Given the description of an element on the screen output the (x, y) to click on. 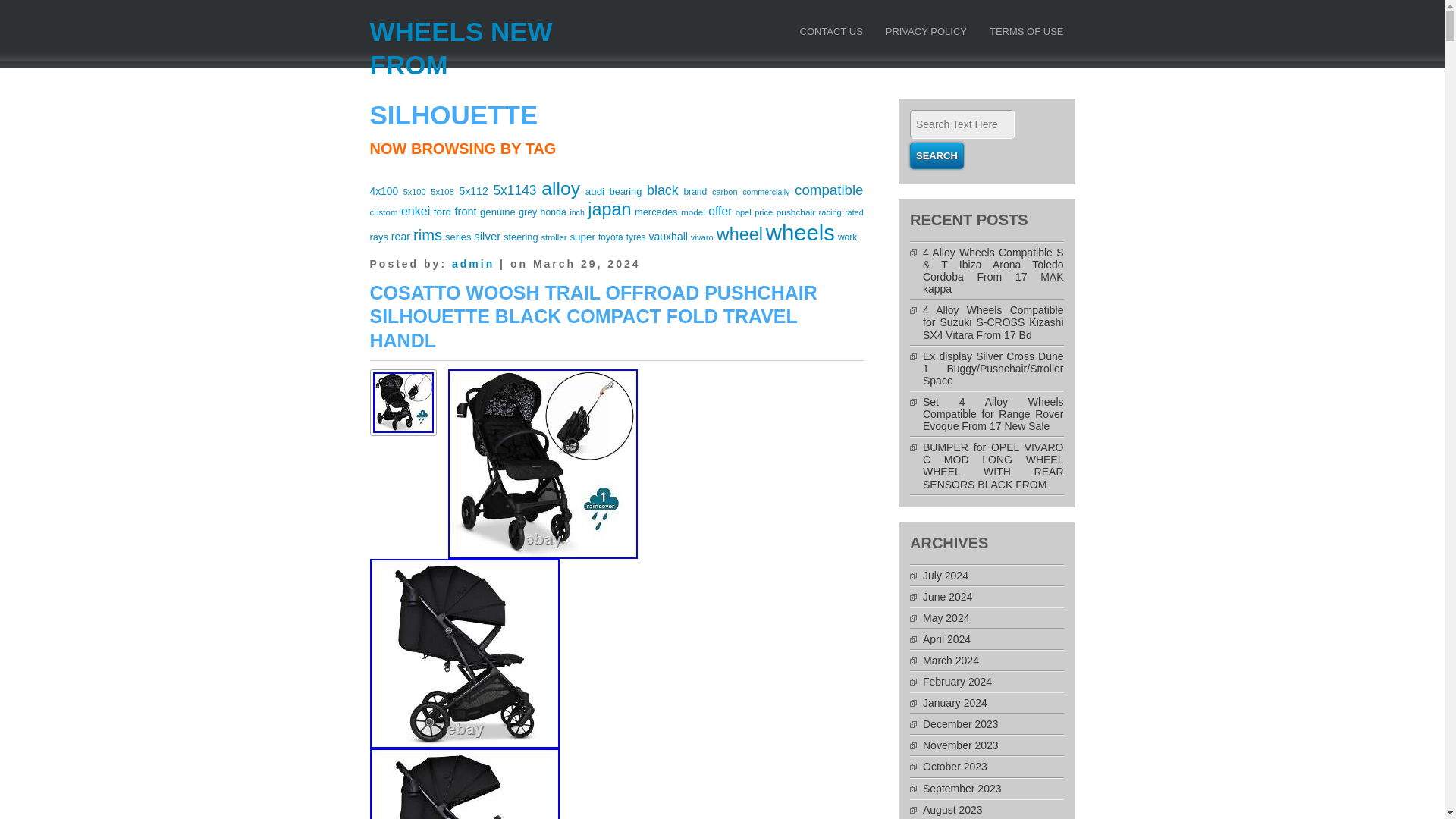
127 topics (442, 211)
grey (527, 212)
75 topics (414, 191)
black (662, 190)
Search (936, 155)
front (465, 211)
108 topics (626, 191)
pushchair (795, 212)
72 topics (765, 191)
rims (427, 234)
inch (577, 212)
rear (400, 236)
bearing (626, 191)
CONTACT US (830, 34)
silver (487, 236)
